Given the description of an element on the screen output the (x, y) to click on. 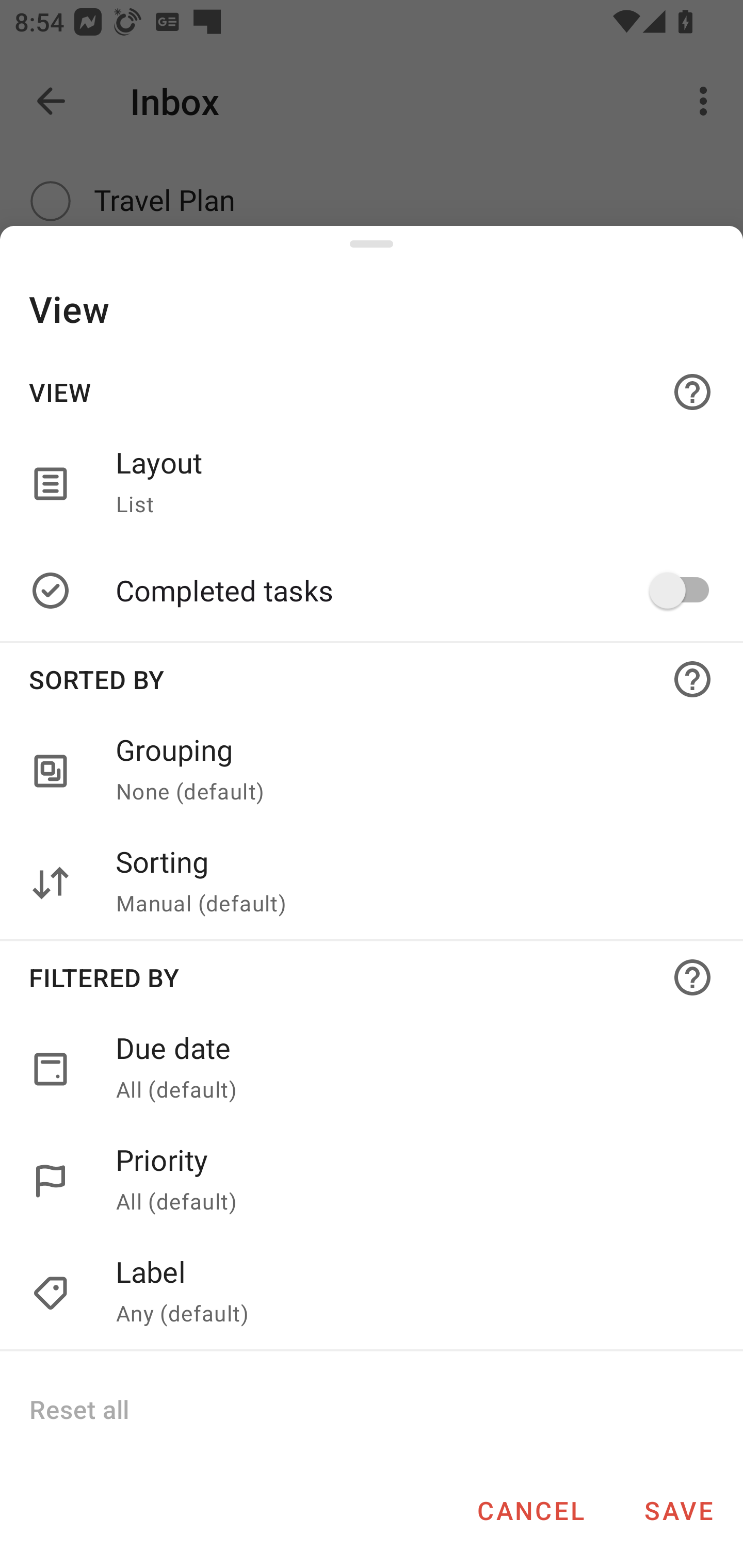
Layout List (371, 483)
Layout List (407, 483)
Completed tasks (407, 590)
SORTED BY (371, 678)
Grouping None (default) (371, 771)
Grouping None (default) (407, 771)
Sorting Manual (default) (371, 883)
Sorting Manual (default) (407, 883)
FILTERED BY (371, 976)
Due date All (default) (371, 1068)
Due date All (default) (407, 1068)
Priority All (default) (371, 1181)
Priority All (default) (407, 1181)
Label Any (default) (371, 1293)
Label Any (default) (407, 1293)
Reset all (78, 1408)
CANCEL (530, 1510)
SAVE (678, 1510)
